Given the description of an element on the screen output the (x, y) to click on. 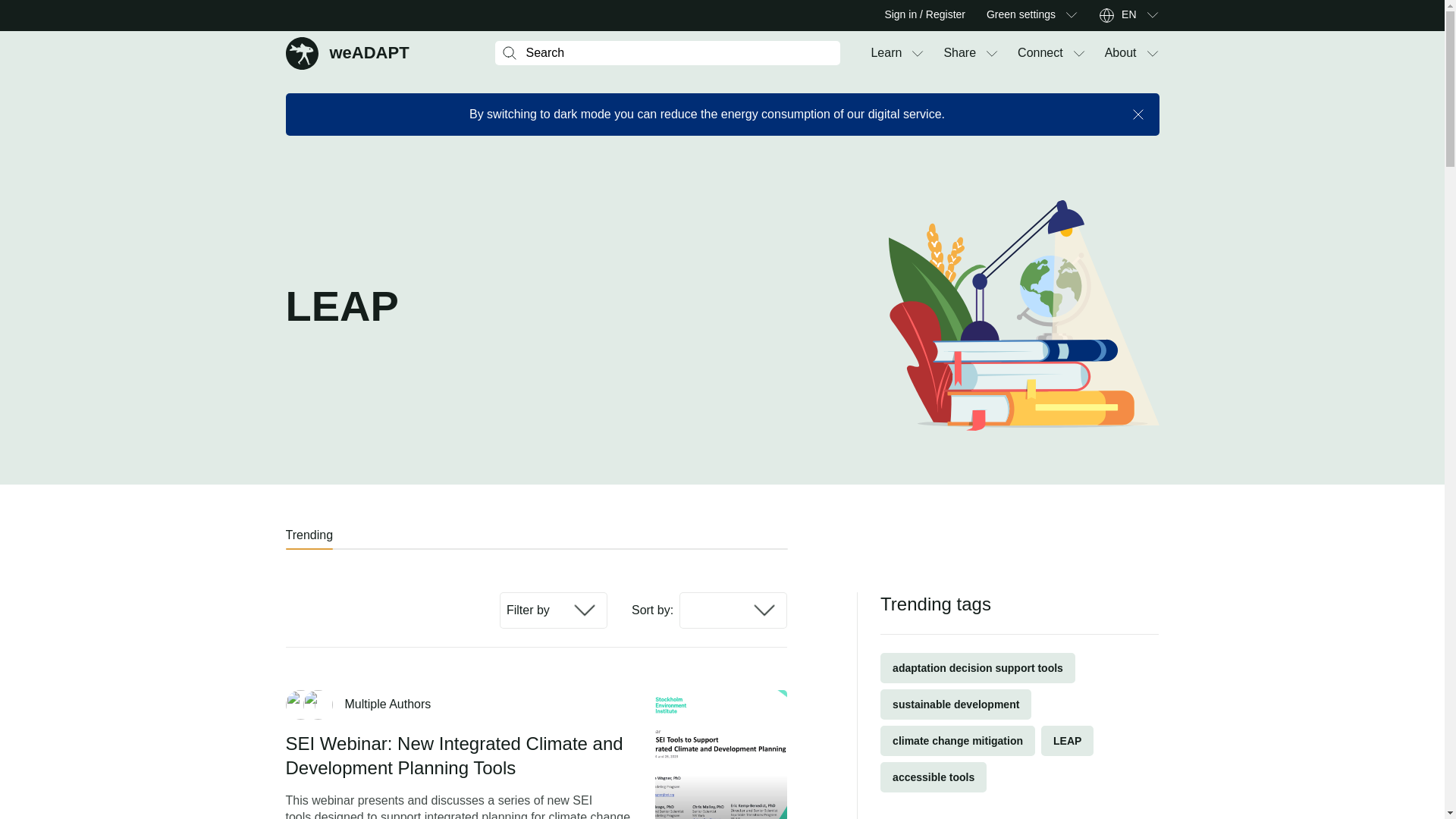
Connect (1039, 53)
About (1121, 53)
Translate Submenu (1151, 14)
Submenu (1071, 14)
Green settings (1021, 14)
Learn (885, 53)
Share (347, 52)
EN (959, 53)
